Given the description of an element on the screen output the (x, y) to click on. 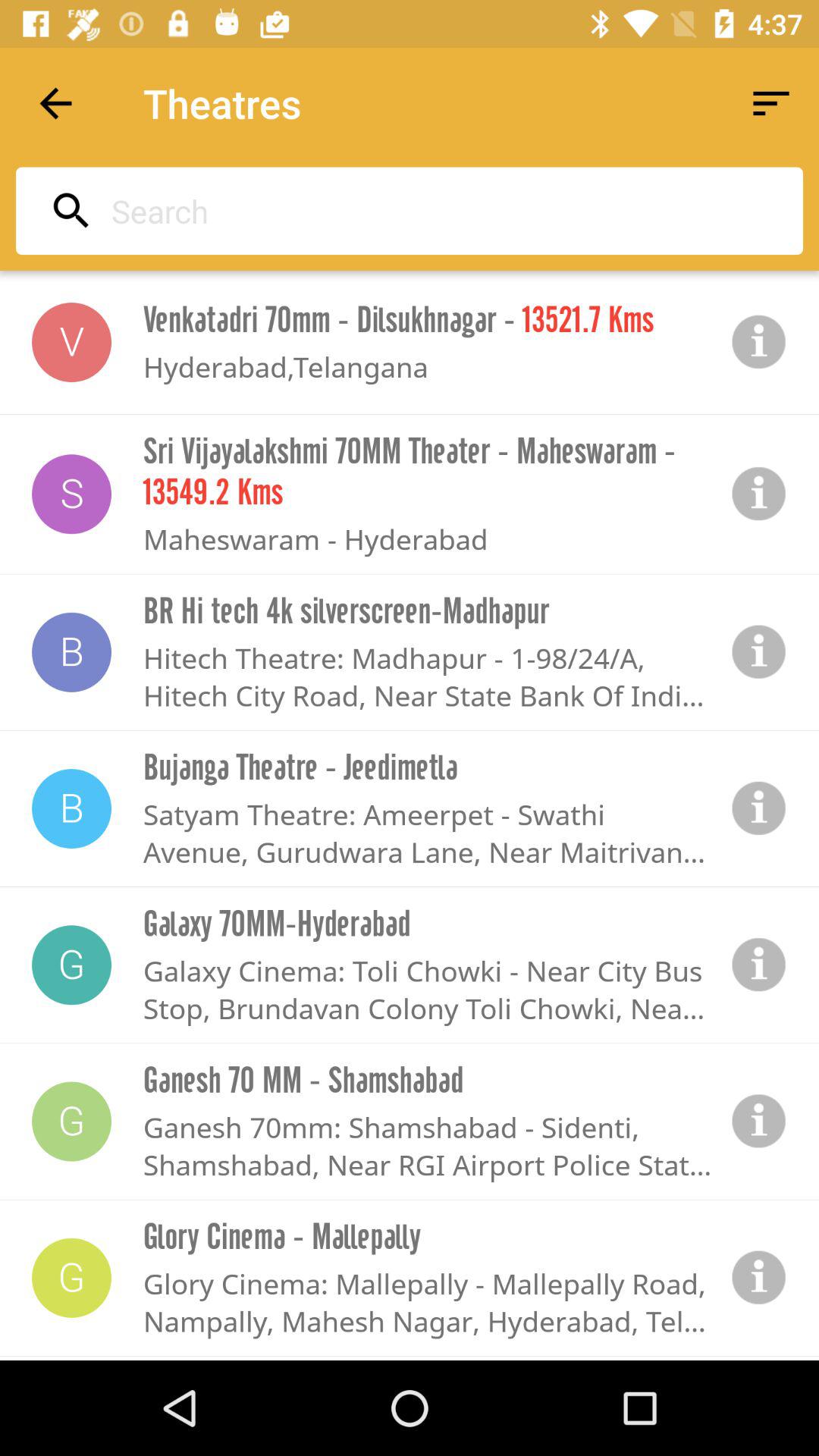
goto more information (759, 342)
